Given the description of an element on the screen output the (x, y) to click on. 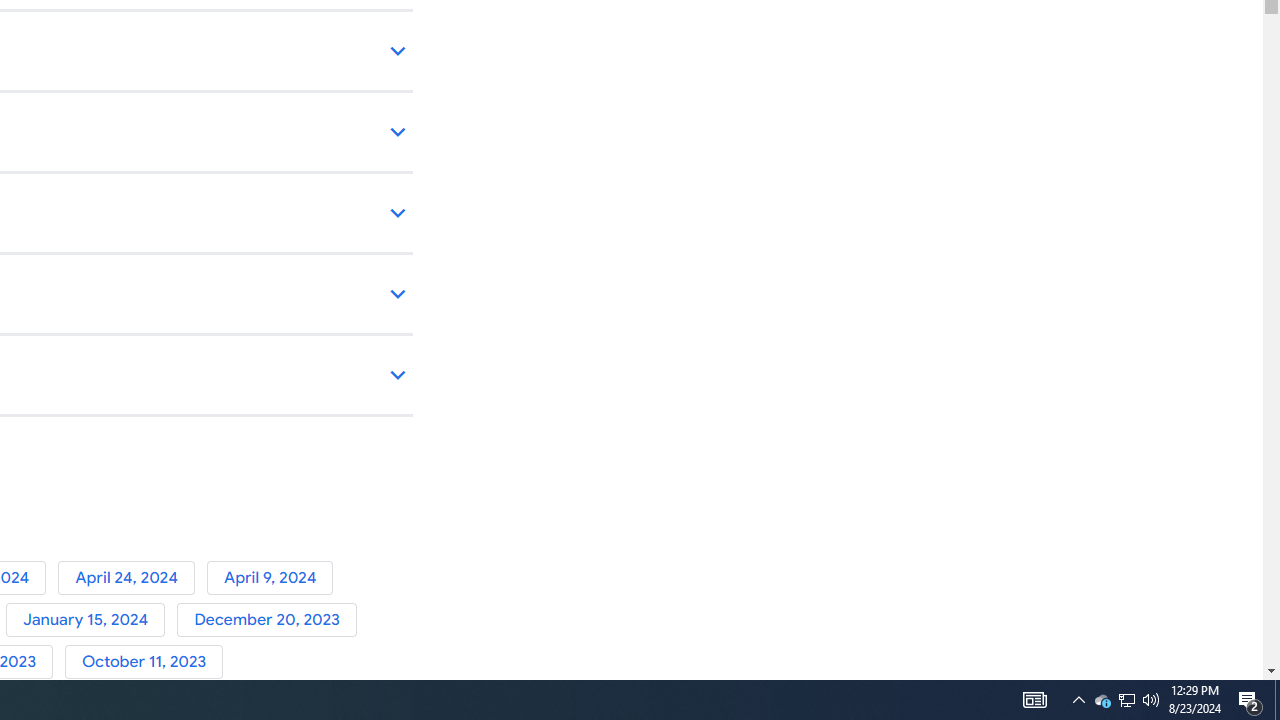
December 20, 2023 (270, 620)
April 24, 2024 (132, 577)
January 15, 2024 (91, 620)
April 9, 2024 (273, 577)
October 11, 2023 (147, 661)
